Given the description of an element on the screen output the (x, y) to click on. 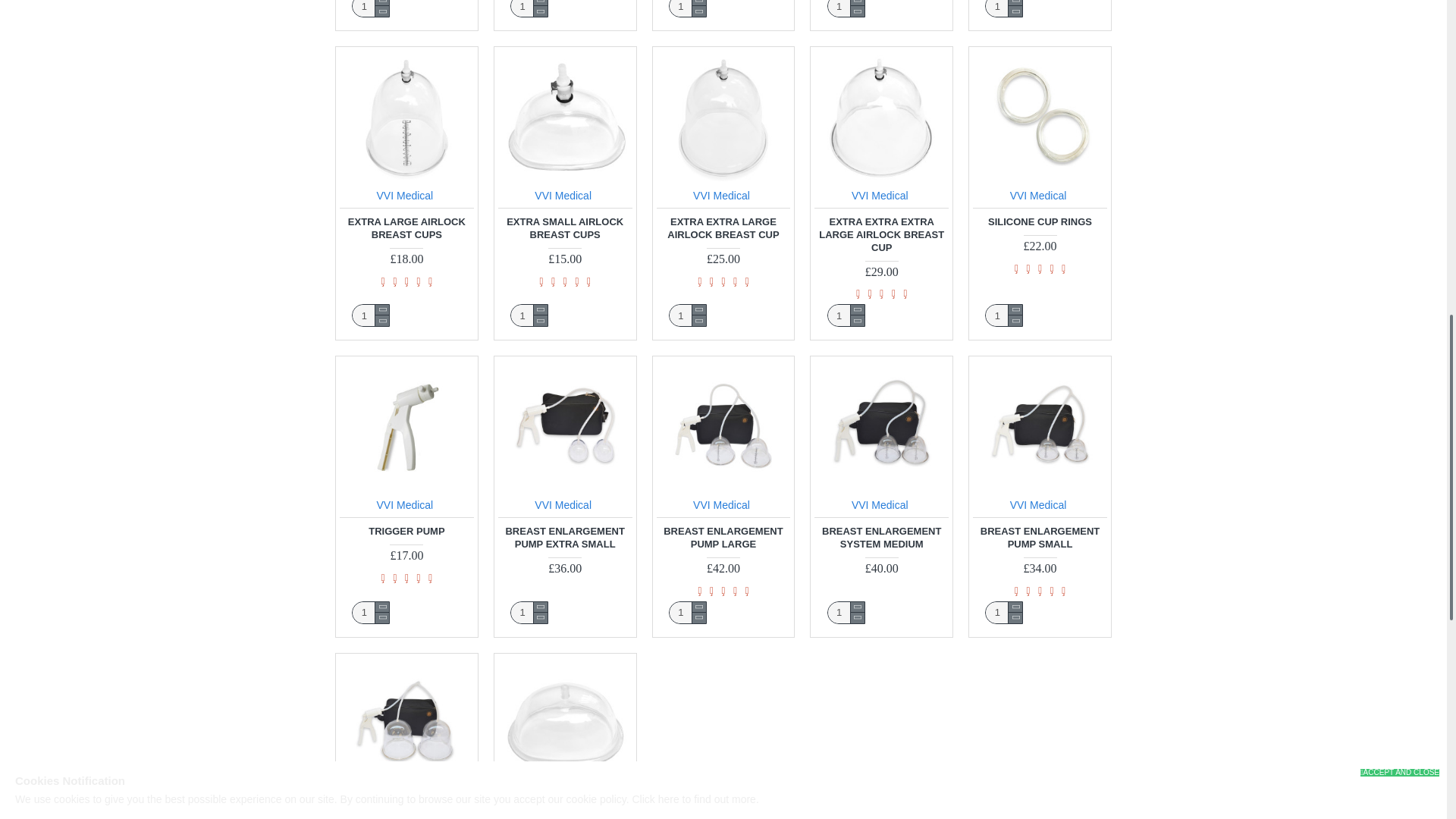
1 (846, 8)
1 (846, 612)
1 (370, 612)
1 (1003, 612)
1 (529, 8)
1 (529, 612)
1 (687, 314)
1 (370, 314)
1 (529, 314)
1 (687, 612)
